Given the description of an element on the screen output the (x, y) to click on. 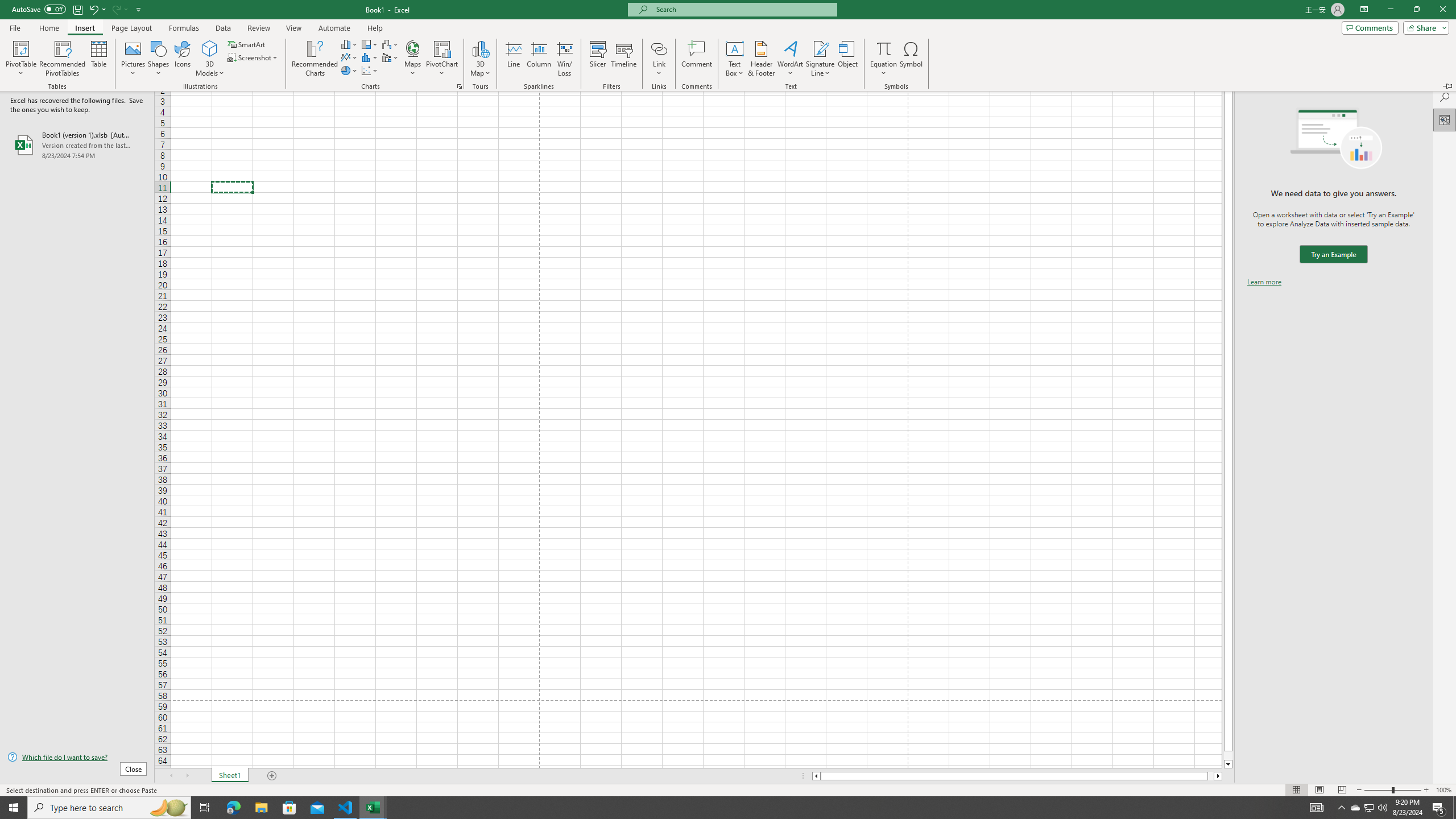
Q2790: 100% (1382, 807)
Analyze Data (1444, 119)
Help (374, 28)
Task View (204, 807)
Normal (1296, 790)
Page down (1228, 755)
Review (258, 28)
Start (13, 807)
View (293, 28)
Action Center, 5 new notifications (1439, 807)
We need data to give you answers. Try an Example (1333, 253)
Running applications (717, 807)
